Given the description of an element on the screen output the (x, y) to click on. 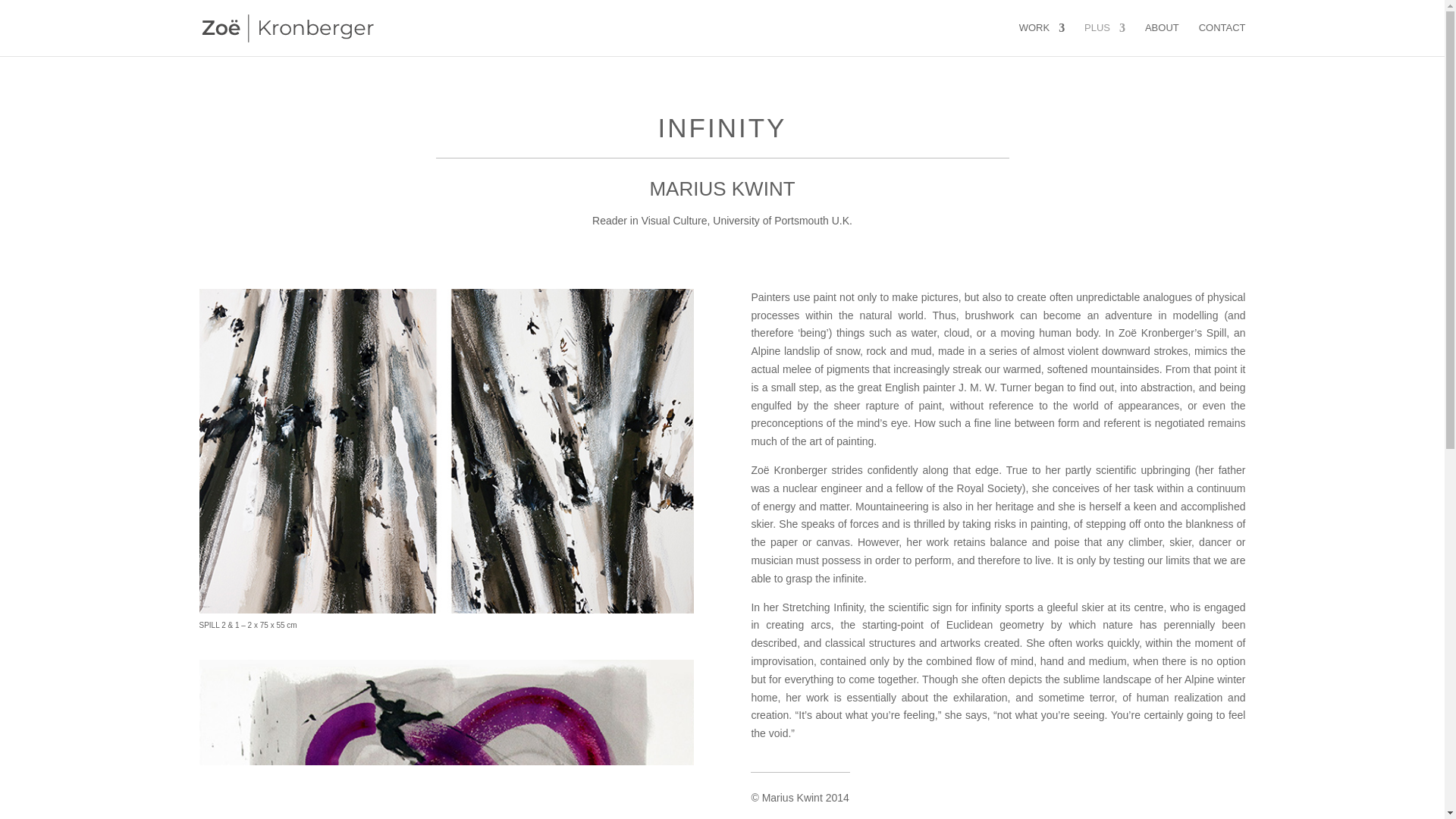
WORK (1041, 39)
CONTACT (1222, 39)
PLUS (1104, 39)
ABOUT (1161, 39)
